Given the description of an element on the screen output the (x, y) to click on. 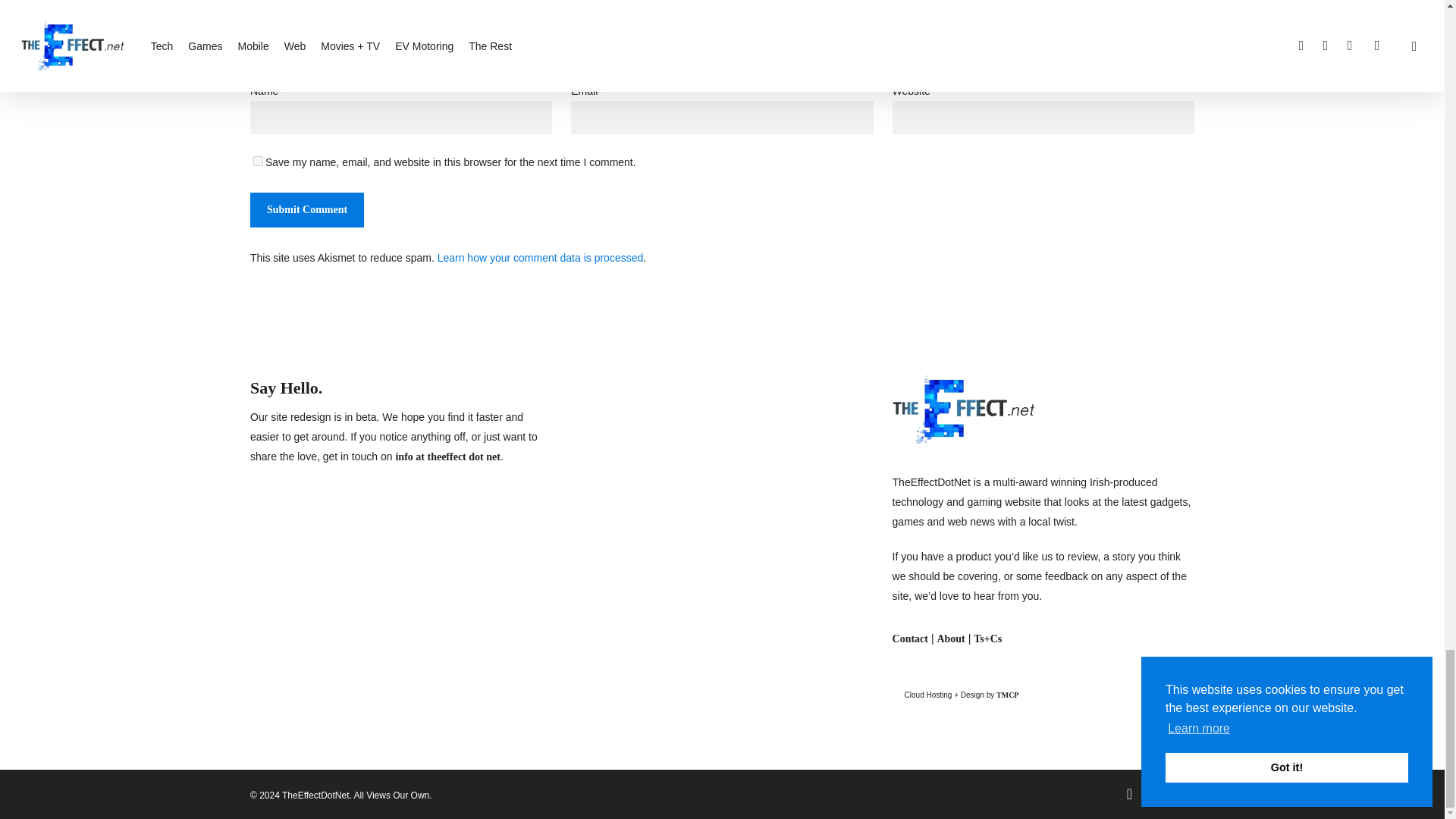
Get in touch with TheEffectDotNet (910, 638)
yes (258, 161)
Submit Comment (307, 209)
